Given the description of an element on the screen output the (x, y) to click on. 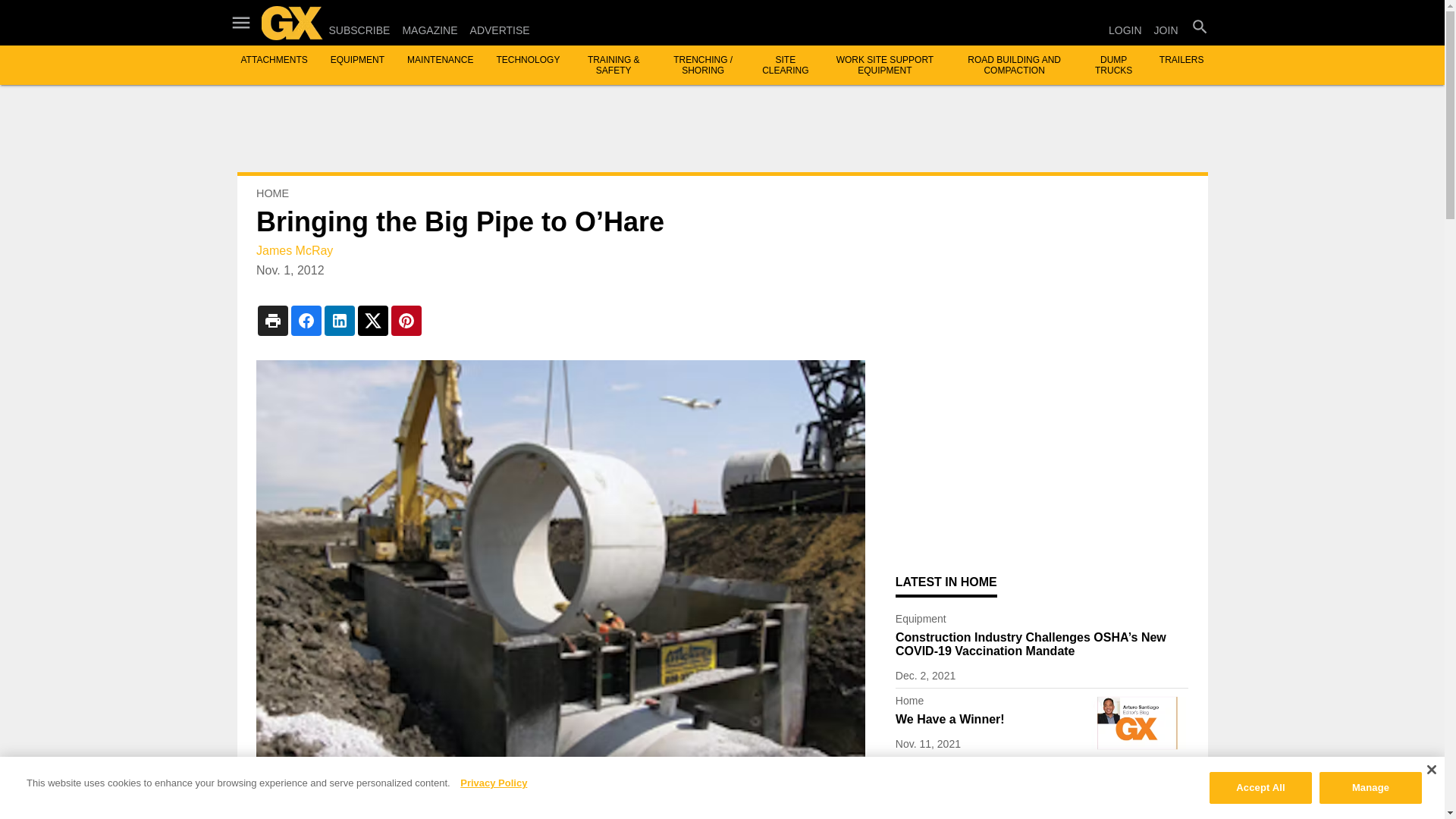
WORK SITE SUPPORT EQUIPMENT (884, 65)
SITE CLEARING (784, 65)
JOIN (1165, 30)
TRAILERS (1181, 59)
Agc Logo (1137, 791)
MAINTENANCE (440, 59)
SUBSCRIBE (359, 30)
Blog Image Gx (1137, 722)
EQUIPMENT (357, 59)
TECHNOLOGY (527, 59)
ADVERTISE (499, 30)
ATTACHMENTS (274, 59)
MAGAZINE (429, 30)
DUMP TRUCKS (1113, 65)
